Given the description of an element on the screen output the (x, y) to click on. 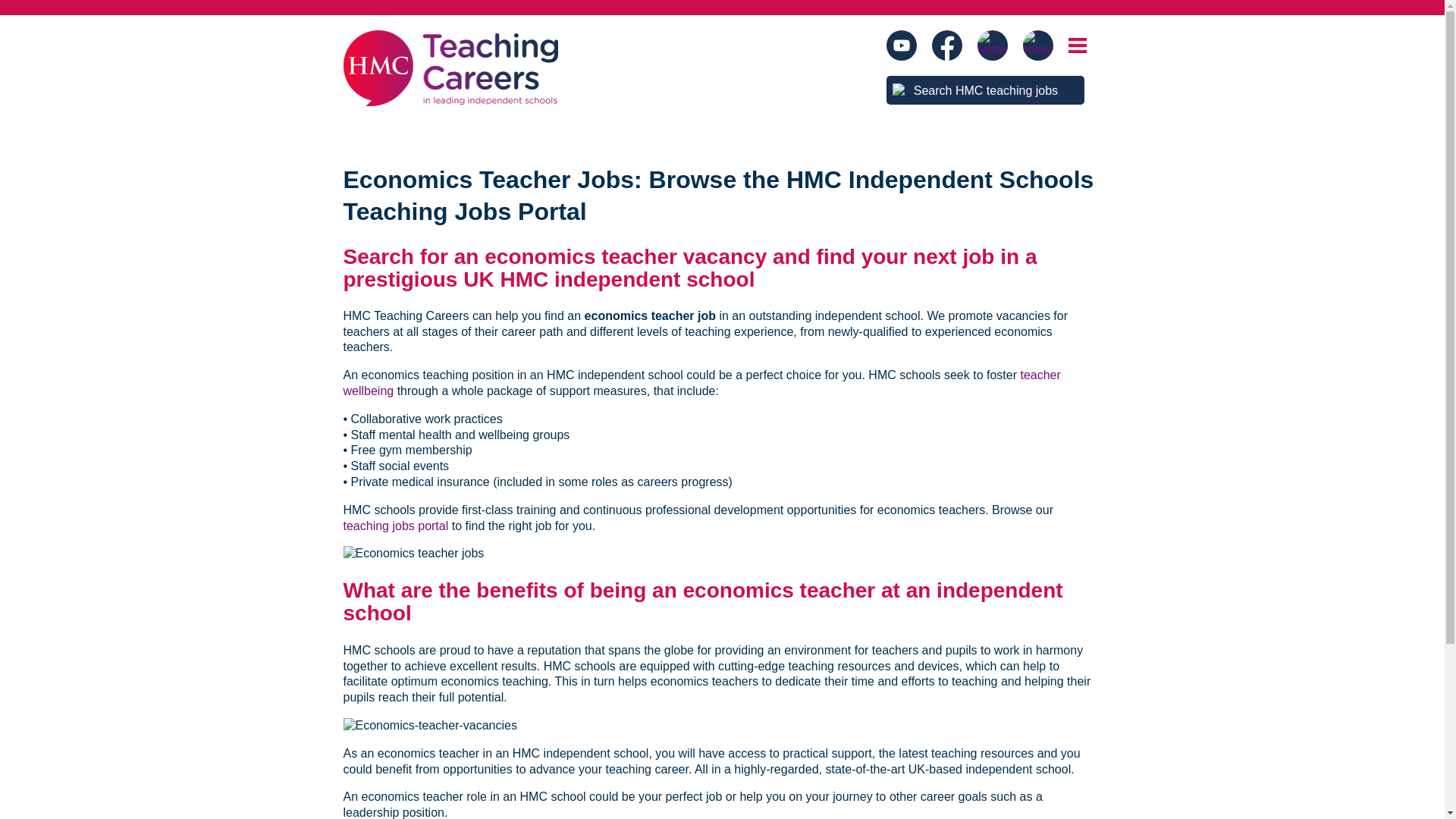
Search HMC teaching jobs (985, 90)
teacher wellbeing (700, 382)
teaching jobs portal (395, 525)
